Given the description of an element on the screen output the (x, y) to click on. 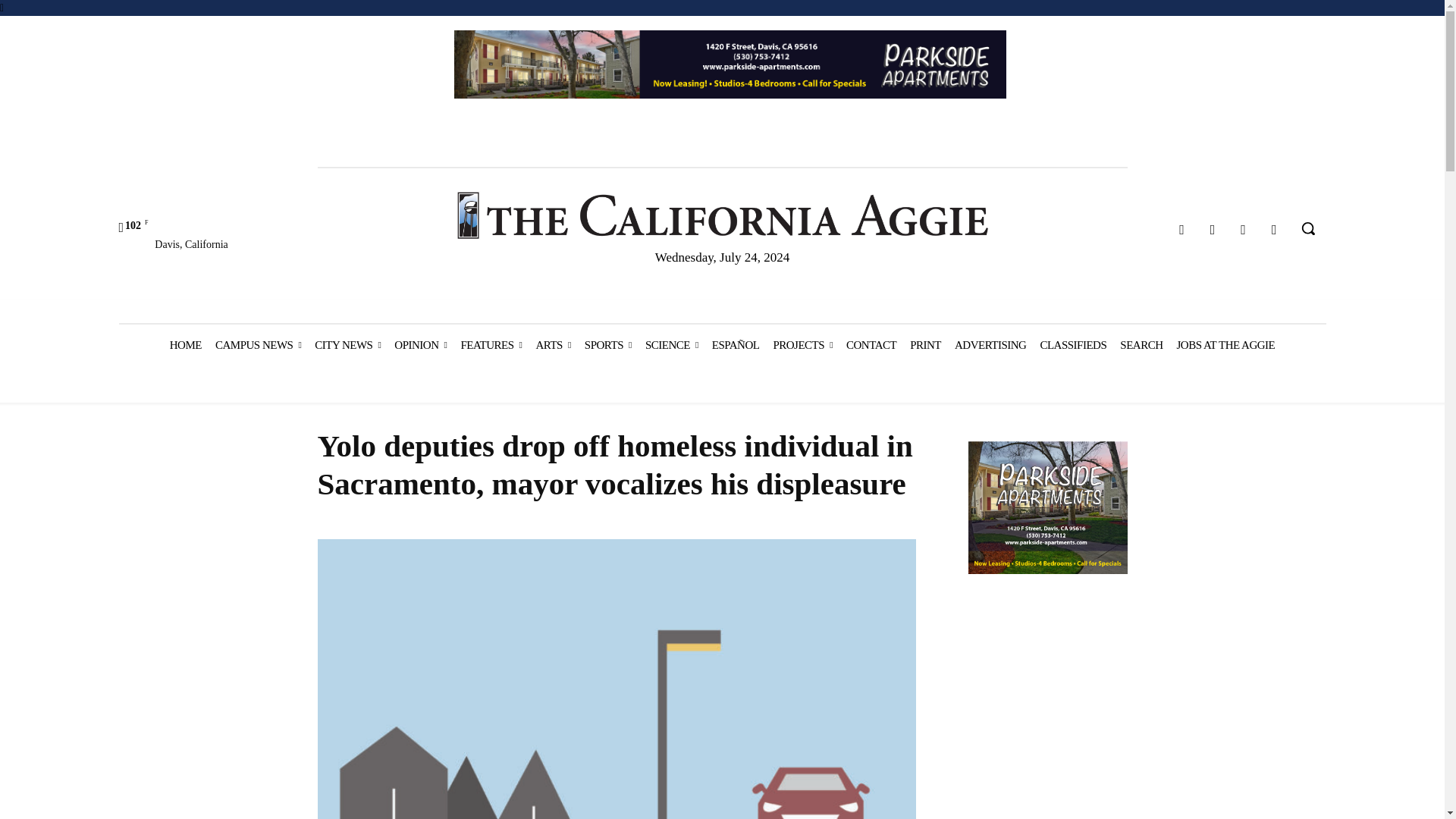
HOME (185, 345)
Facebook (1181, 229)
Instagram (1212, 229)
CAMPUS NEWS (257, 345)
Twitter (1243, 229)
Youtube (1273, 229)
